Given the description of an element on the screen output the (x, y) to click on. 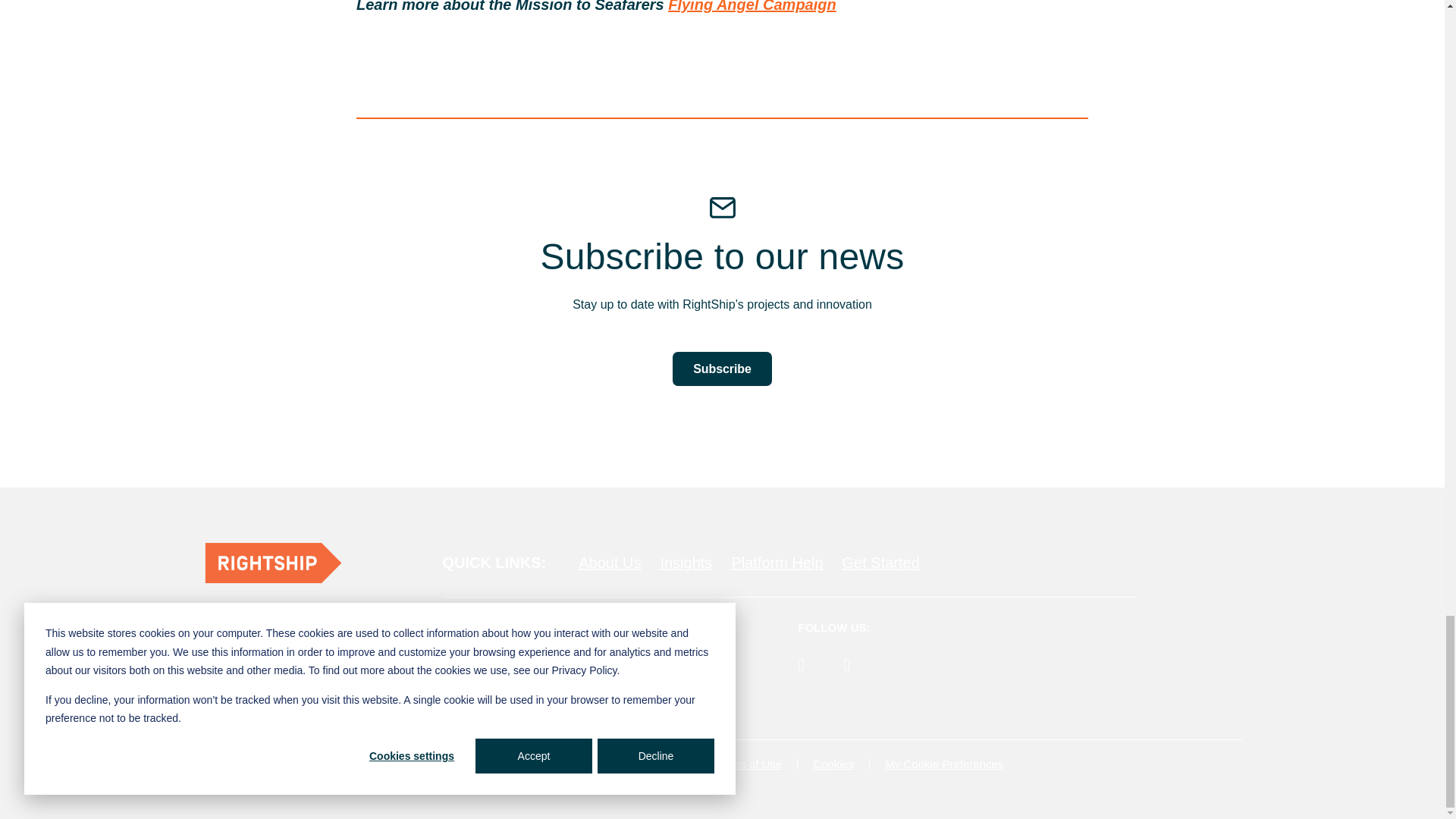
logo (273, 562)
